Given the description of an element on the screen output the (x, y) to click on. 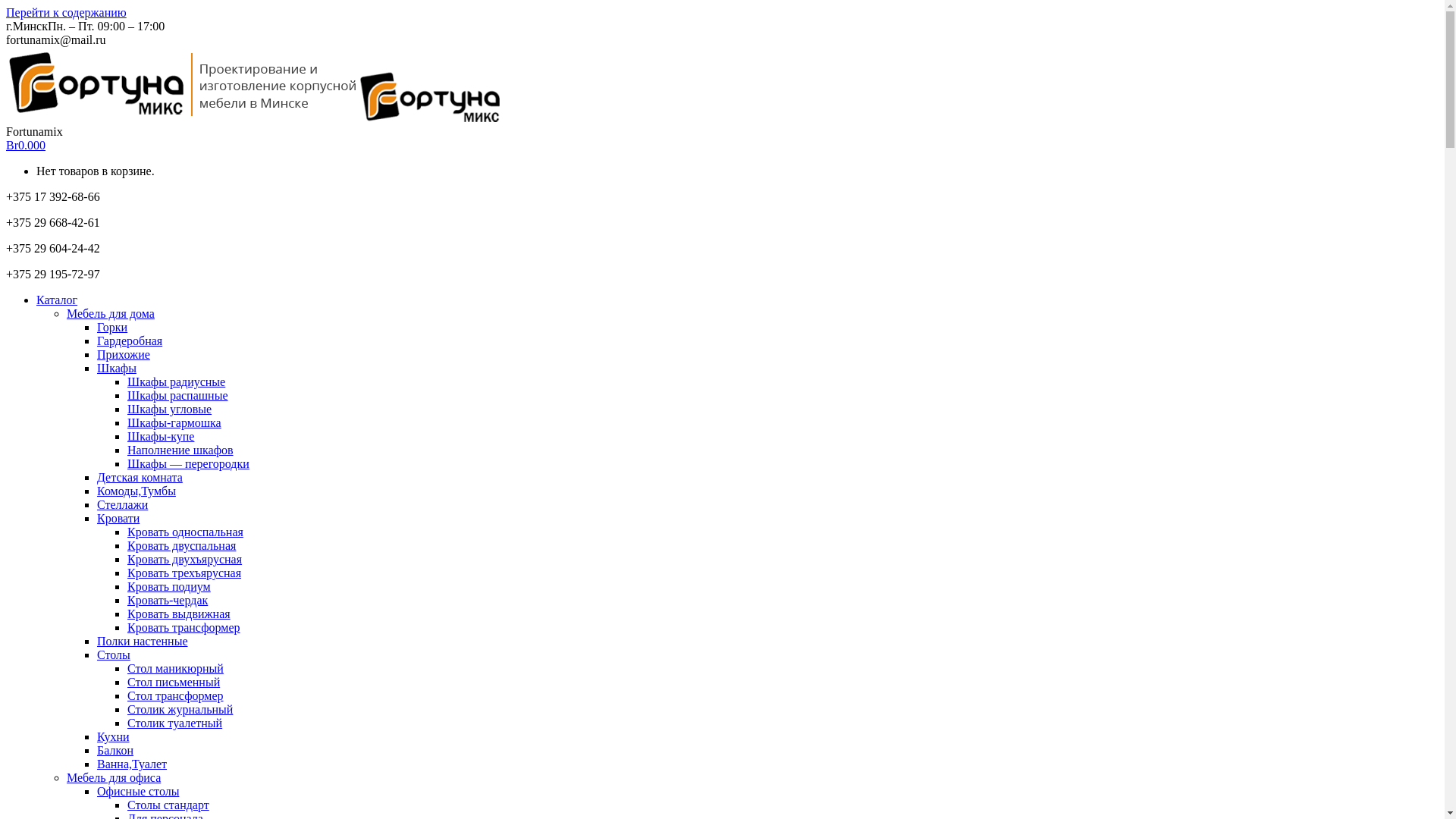
Br0.000 Element type: text (25, 144)
